Given the description of an element on the screen output the (x, y) to click on. 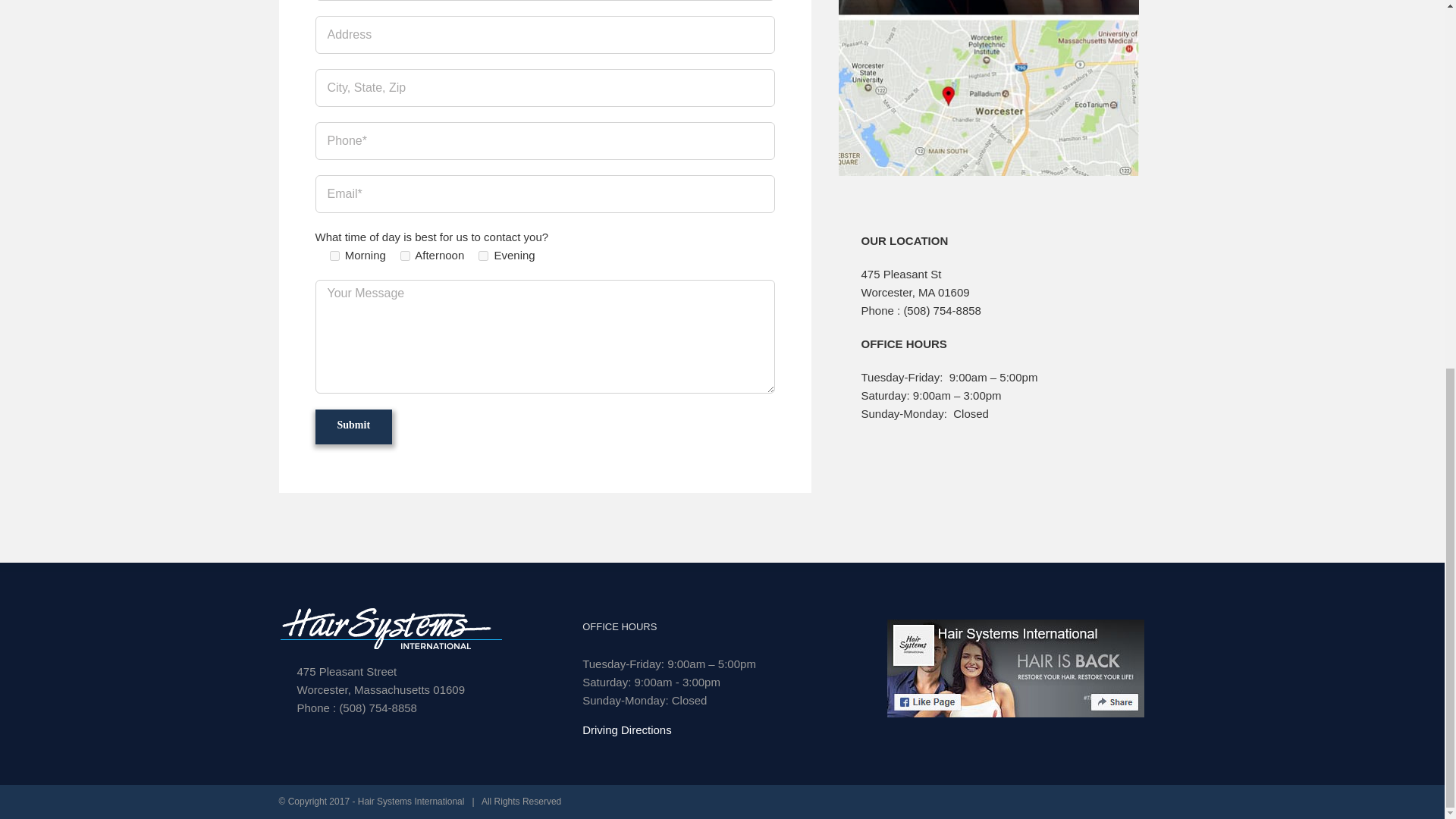
Morning (334, 255)
Driving Directions (626, 729)
Evening (483, 255)
Submit (354, 424)
Submit (354, 424)
Afternoon (405, 255)
